Given the description of an element on the screen output the (x, y) to click on. 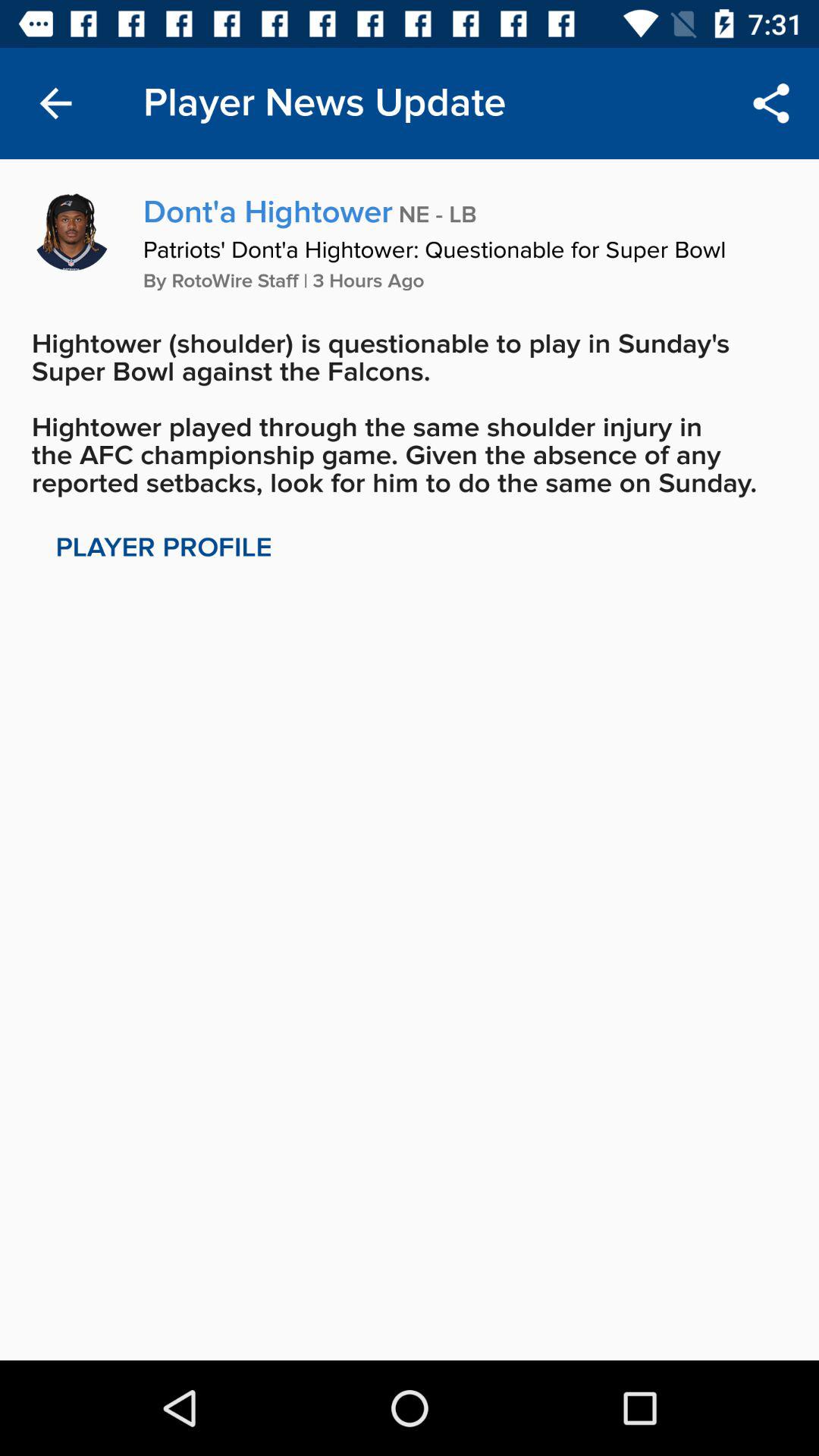
turn on the hightower shoulder is (409, 413)
